Given the description of an element on the screen output the (x, y) to click on. 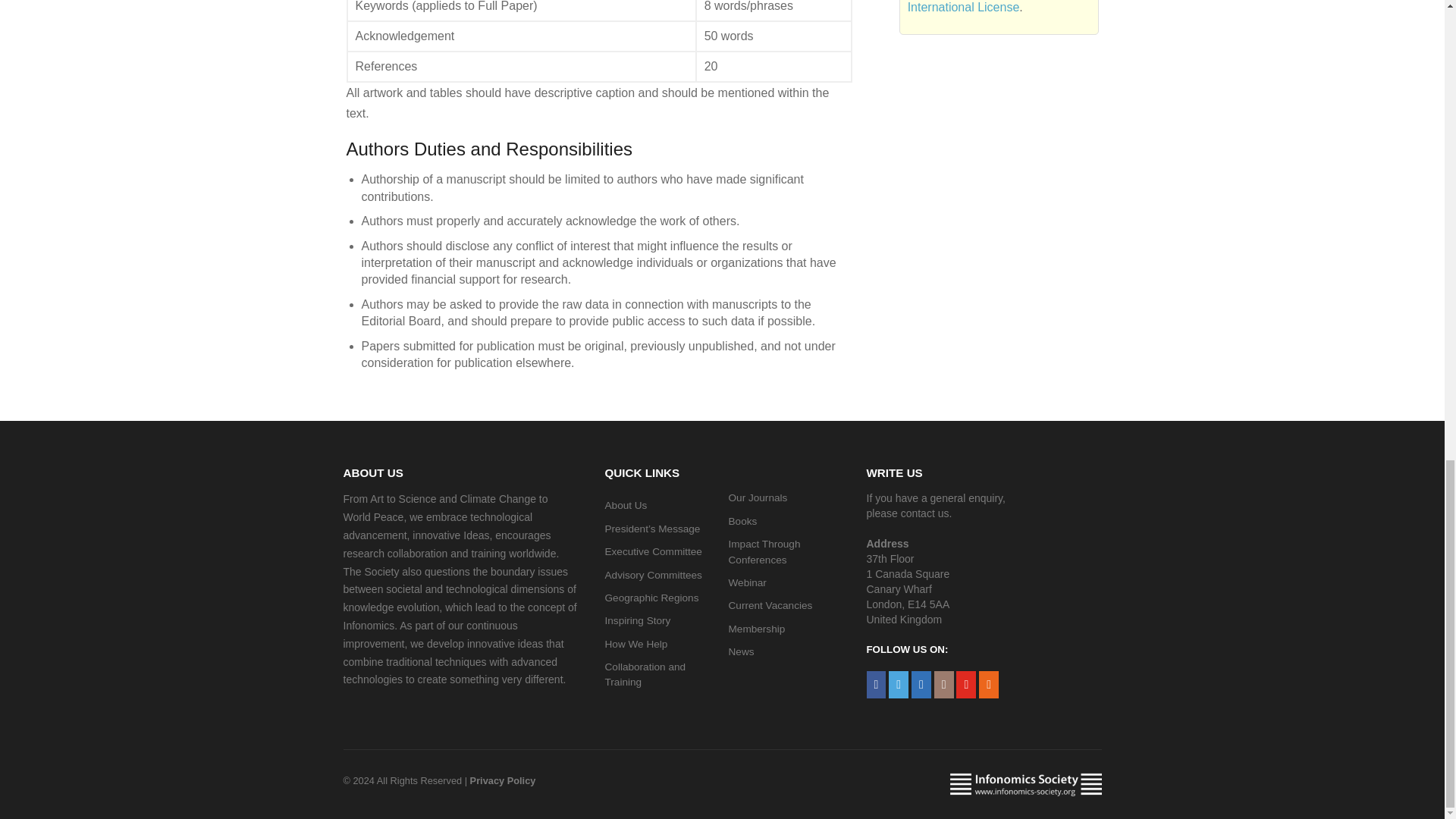
Privacy Policy (502, 780)
